Given the description of an element on the screen output the (x, y) to click on. 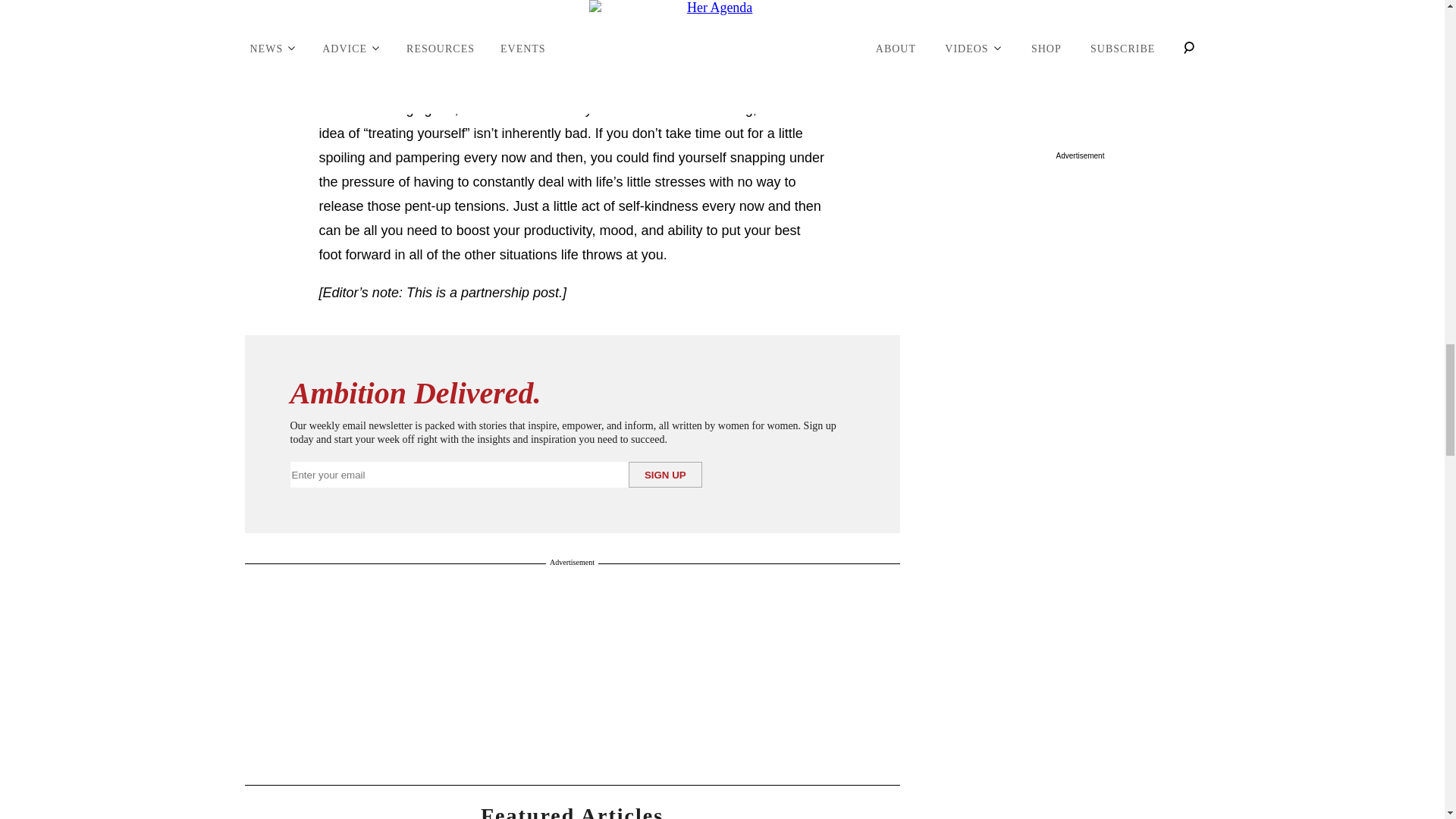
SIGN UP (664, 474)
Featured (571, 811)
